Given the description of an element on the screen output the (x, y) to click on. 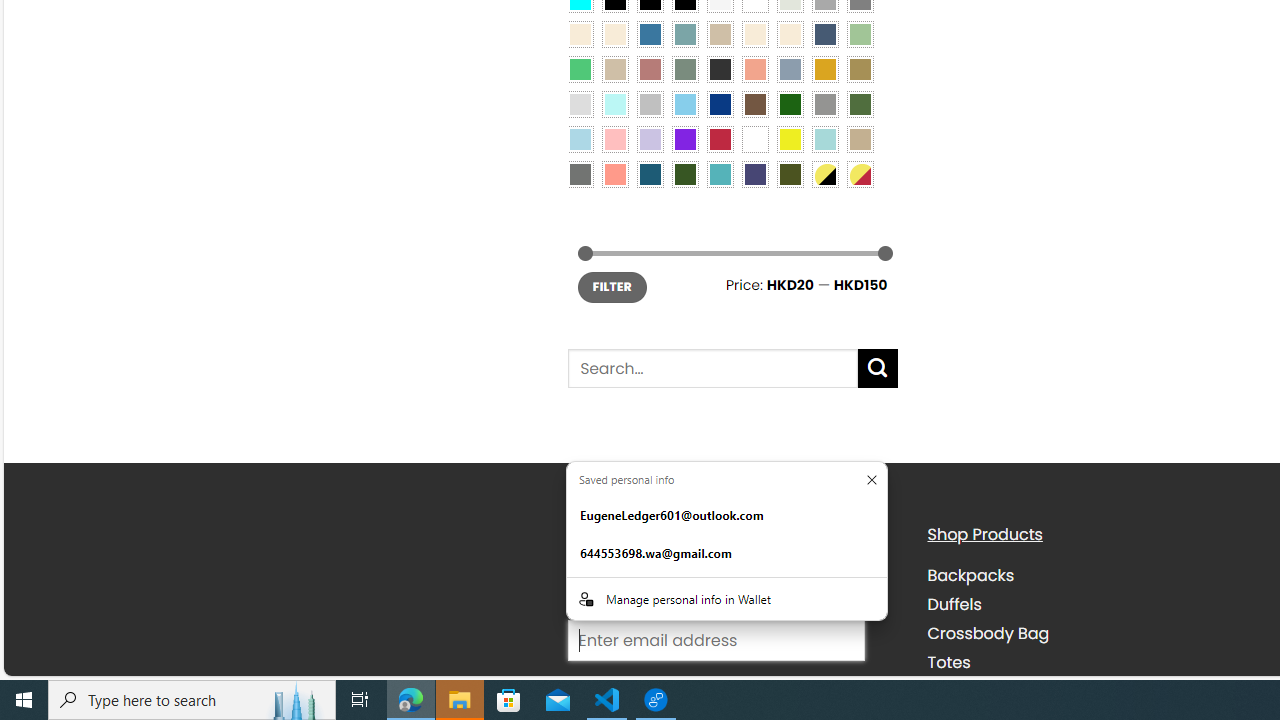
Red (719, 138)
Manage personal info in Wallet (726, 598)
Hale Navy (824, 33)
Forest (684, 174)
Totes (1092, 662)
Search for: (712, 368)
Yellow (789, 138)
Dark Green (789, 103)
Purple Navy (755, 174)
Rose (650, 69)
Light Gray (579, 103)
White (755, 138)
644553698.wa@gmail.com. :Basic info suggestion. (726, 553)
Totes (948, 661)
Submit (877, 367)
